Given the description of an element on the screen output the (x, y) to click on. 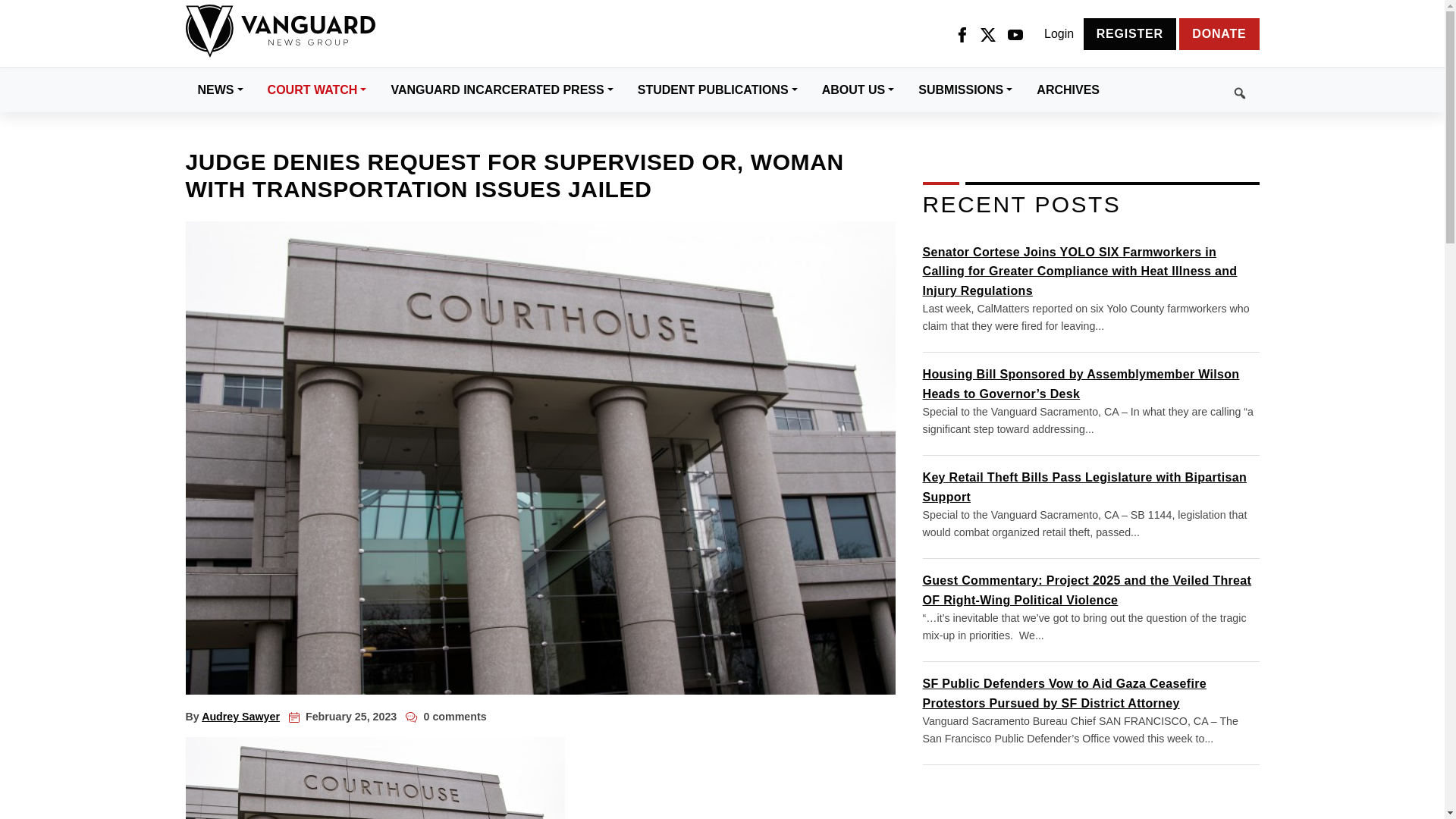
Login (1058, 34)
DONATE (1219, 33)
Search (1185, 90)
YouTube (1015, 34)
Twitter (987, 34)
REGISTER (1129, 33)
Facebook (962, 34)
NEWS (219, 89)
